Given the description of an element on the screen output the (x, y) to click on. 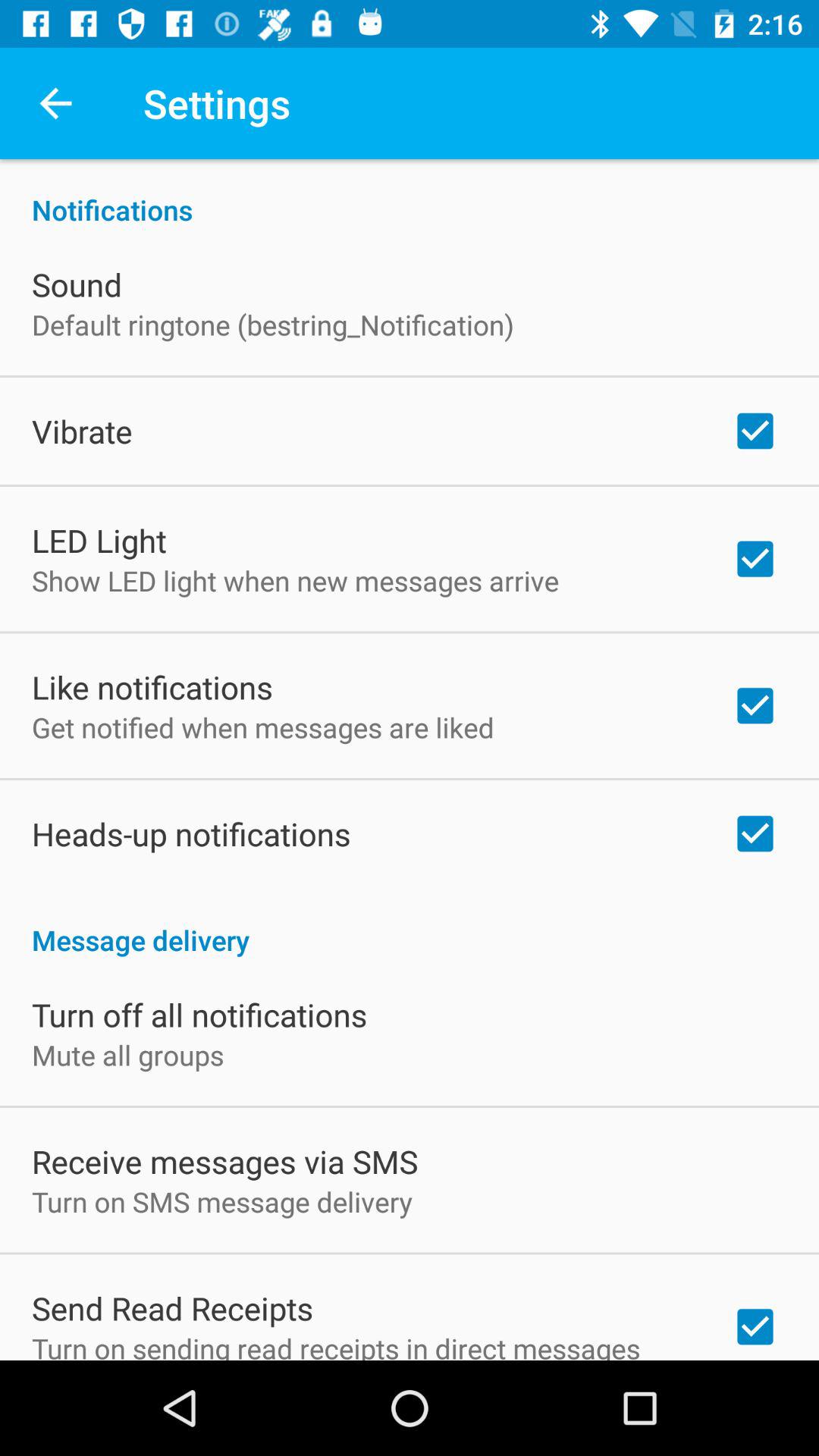
tap the item below default ringtone (bestring_notification) item (81, 430)
